Given the description of an element on the screen output the (x, y) to click on. 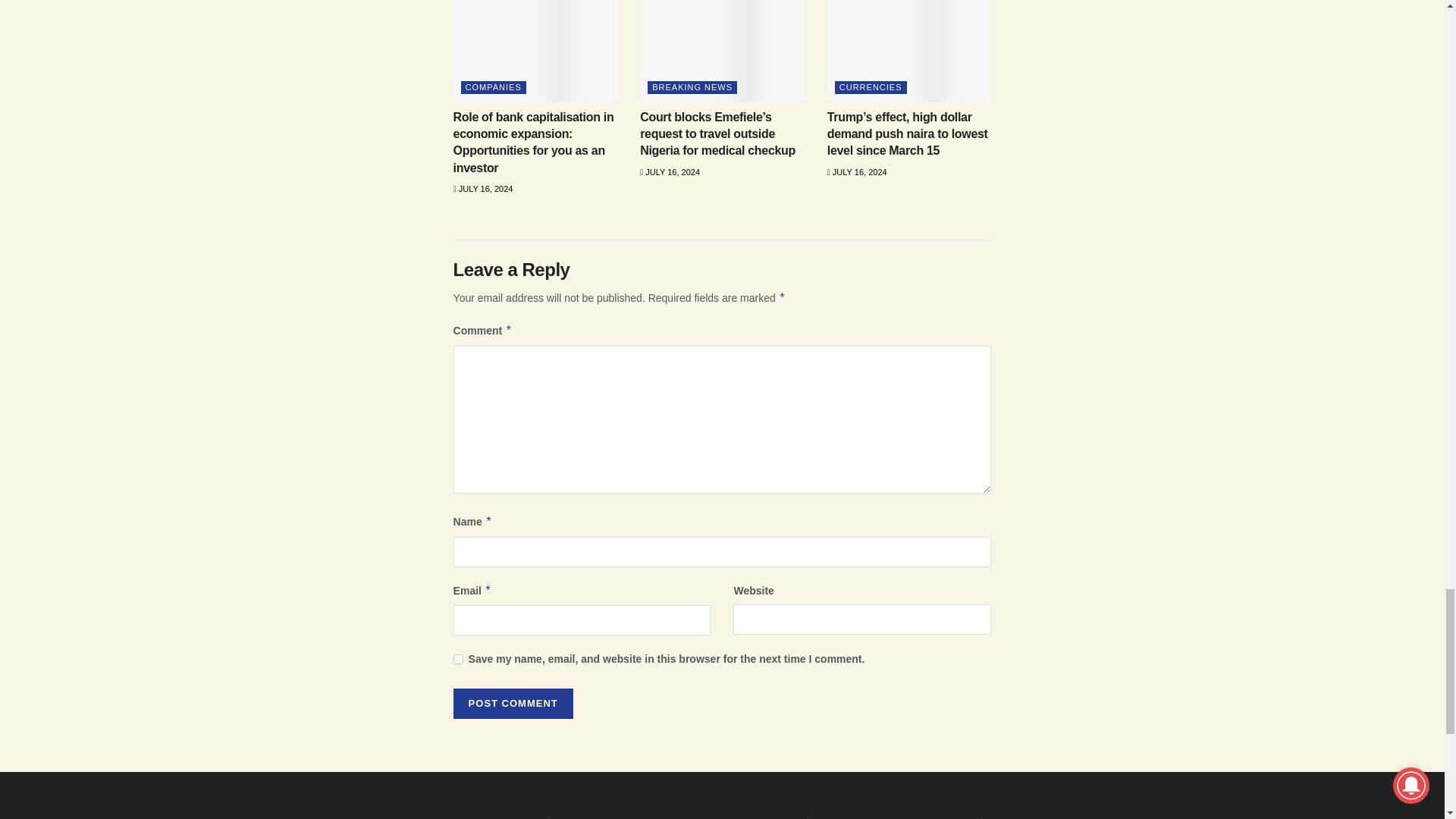
Post Comment (512, 703)
yes (457, 659)
